Given the description of an element on the screen output the (x, y) to click on. 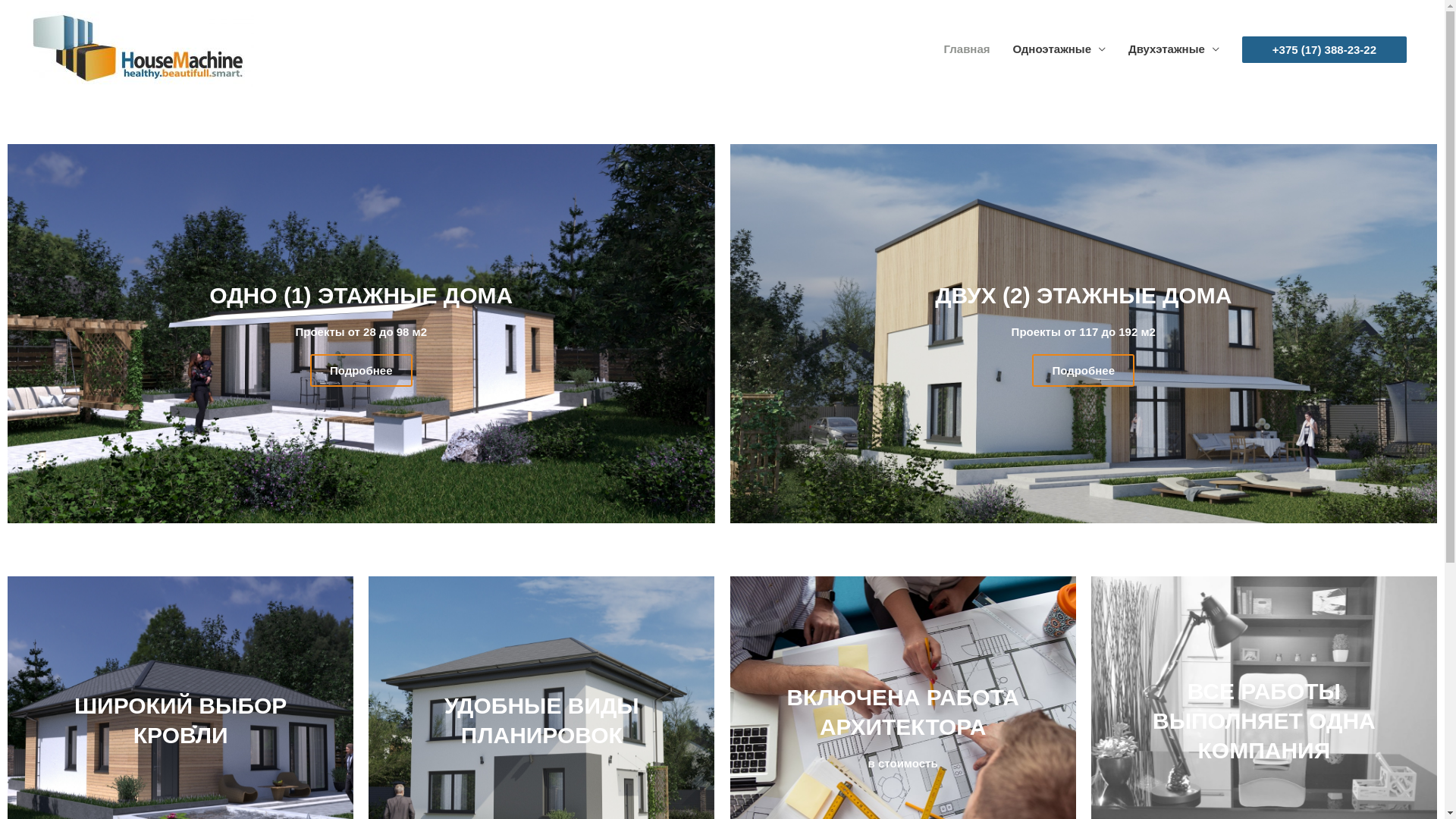
+375 (17) 388-23-22 Element type: text (1324, 49)
